Given the description of an element on the screen output the (x, y) to click on. 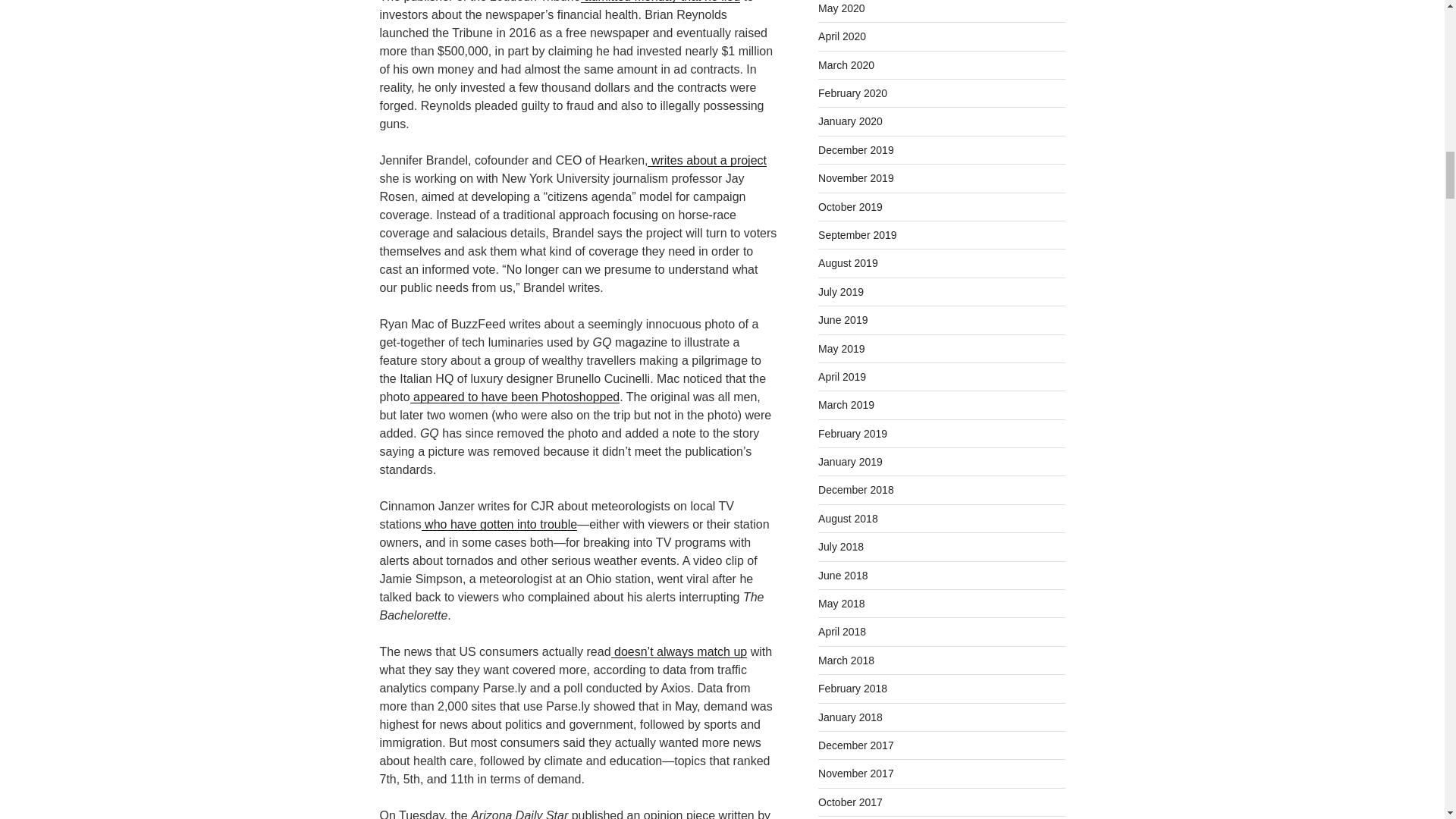
admitted Monday that he lied (659, 1)
appeared to have been Photoshopped (515, 396)
who have gotten into trouble (499, 523)
writes about a project (707, 160)
